Given the description of an element on the screen output the (x, y) to click on. 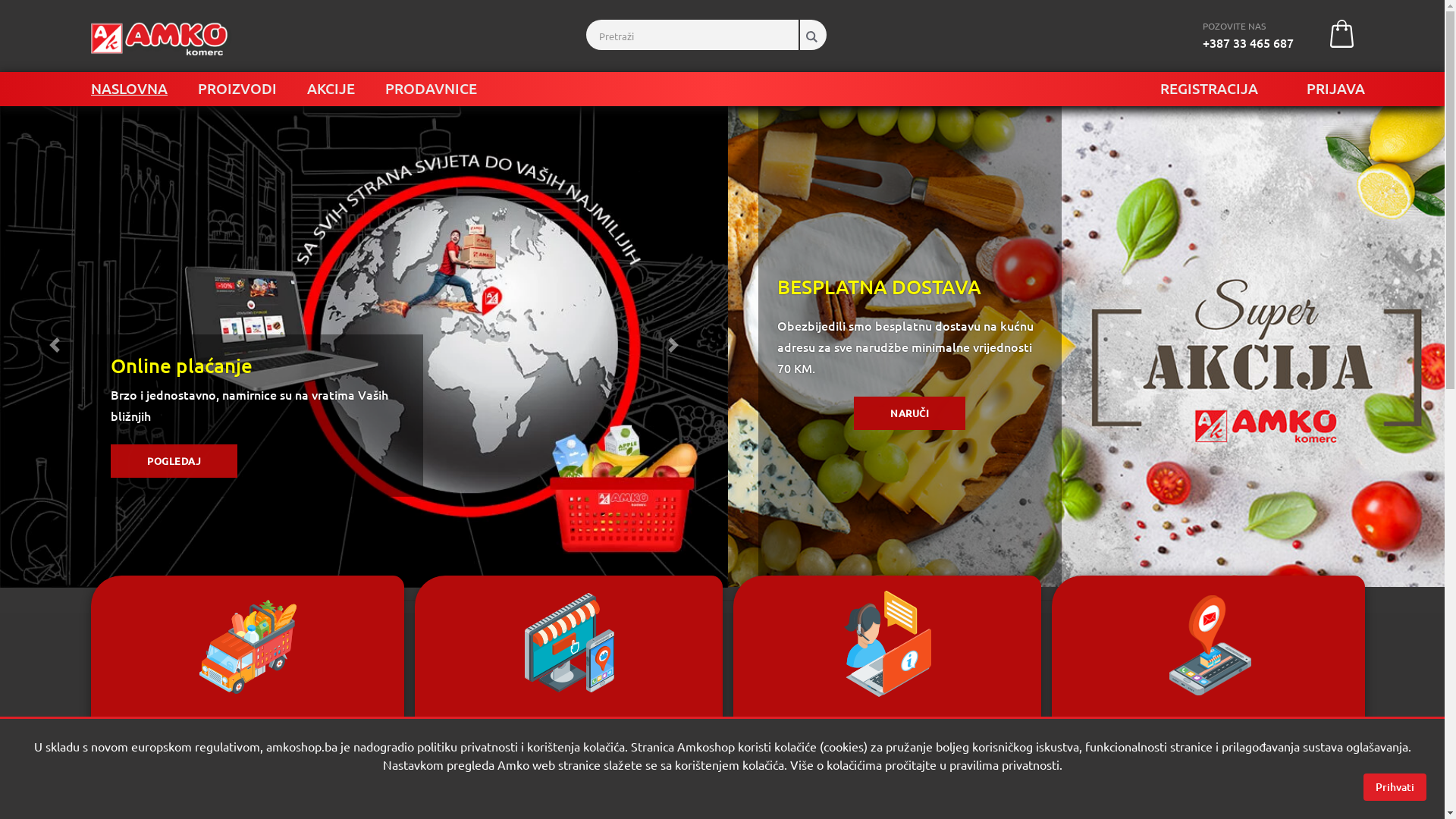
PRODAVNICE Element type: text (430, 87)
PROIZVODI Element type: text (236, 87)
POGLEDAJ Element type: text (173, 460)
+387 33 465 687 Element type: text (1247, 42)
Previous Element type: text (54, 344)
AKCIJE Element type: text (330, 87)
PRIJAVA Element type: text (1335, 87)
Next Element type: text (673, 344)
NASLOVNA Element type: text (129, 87)
REGISTRACIJA Element type: text (1209, 87)
